Given the description of an element on the screen output the (x, y) to click on. 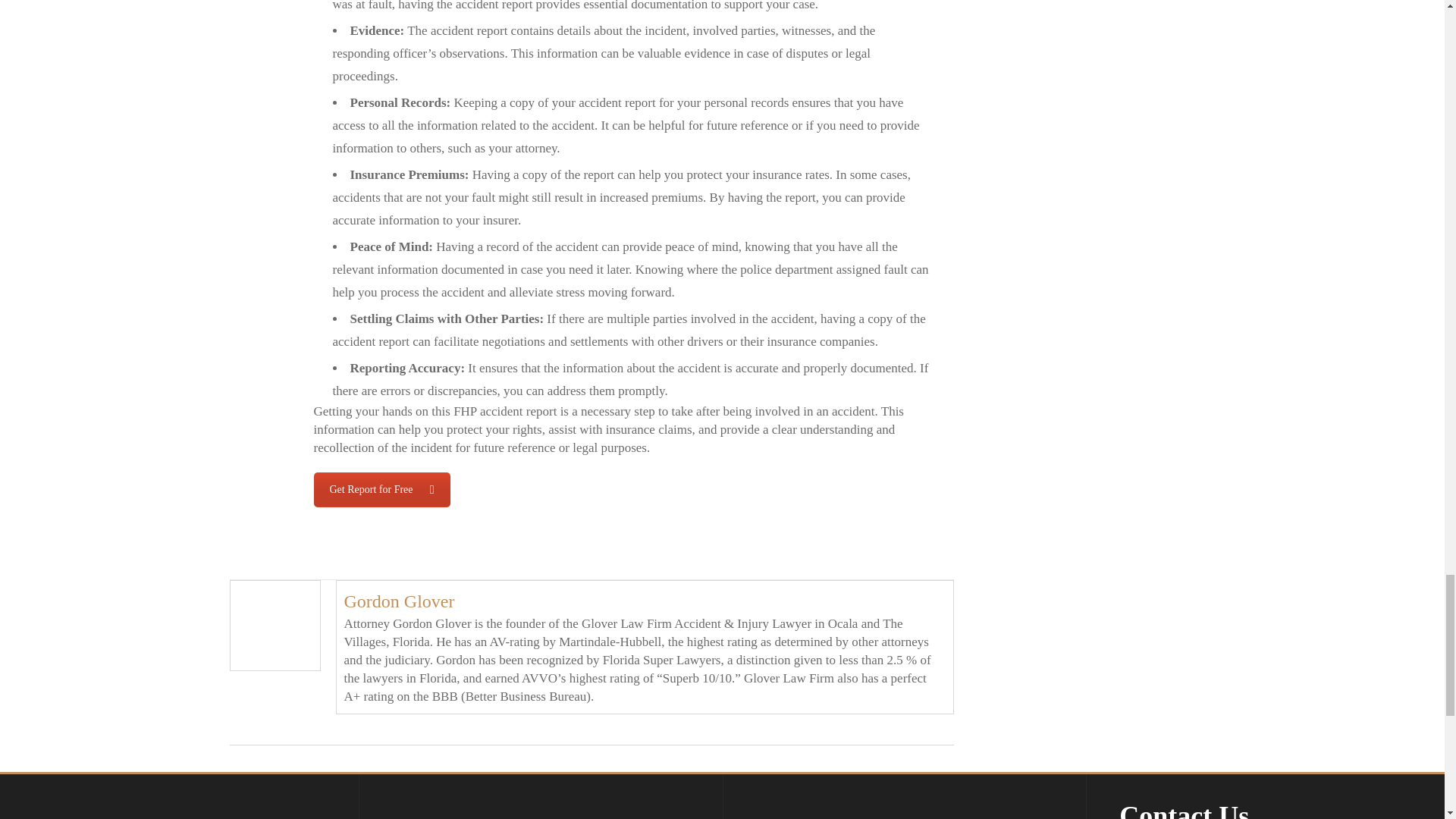
Contact Us (381, 489)
